Given the description of an element on the screen output the (x, y) to click on. 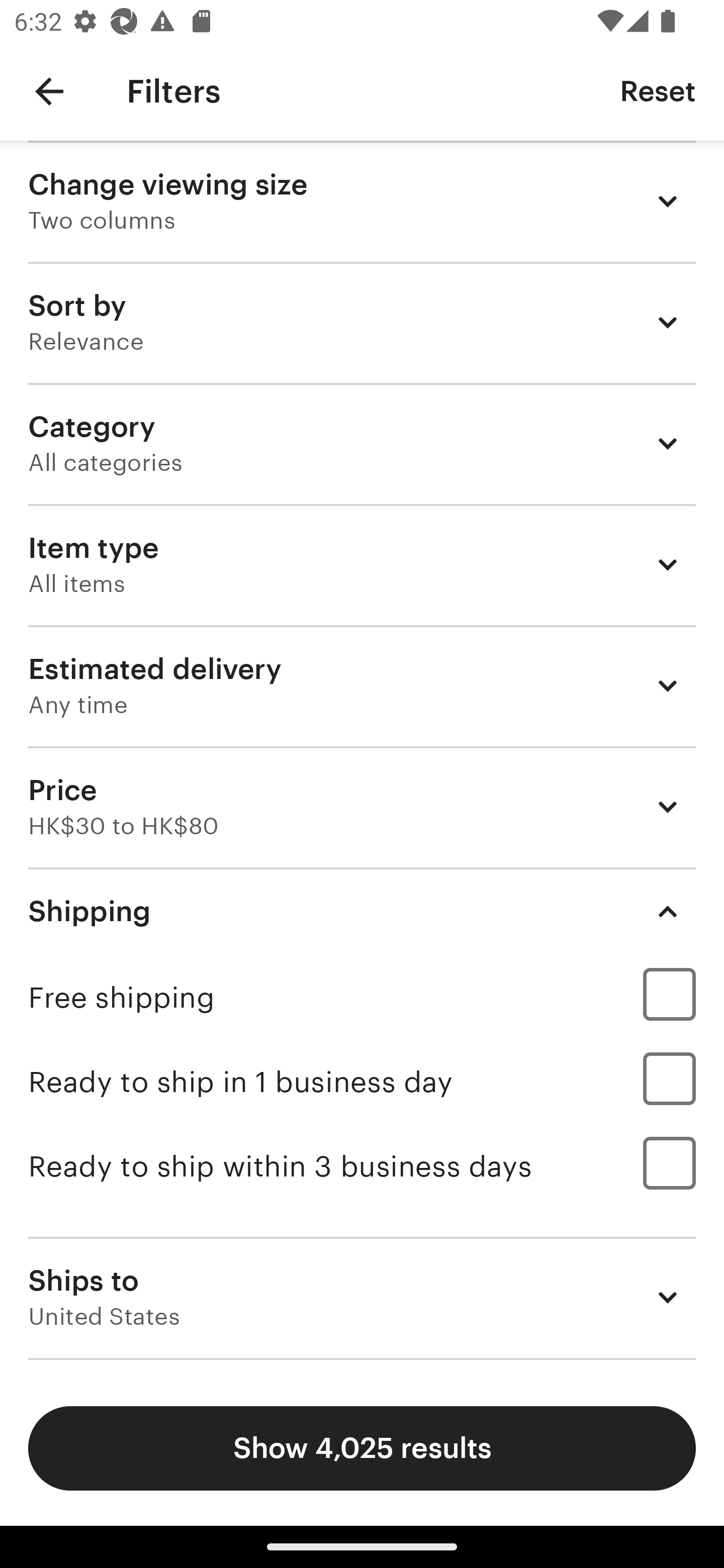
Navigate up (49, 91)
Reset (657, 90)
Change viewing size Two columns (362, 201)
Sort by Relevance (362, 321)
Category All categories (362, 442)
Item type All items (362, 564)
Estimated delivery Any time (362, 685)
Price HK$30 to HK$80 (362, 806)
Shipping (362, 910)
Free shipping (362, 996)
Ready to ship in 1 business day (362, 1081)
Ready to ship within 3 business days (362, 1166)
Ships to United States (362, 1297)
Show 4,025 results Show results (361, 1448)
